Given the description of an element on the screen output the (x, y) to click on. 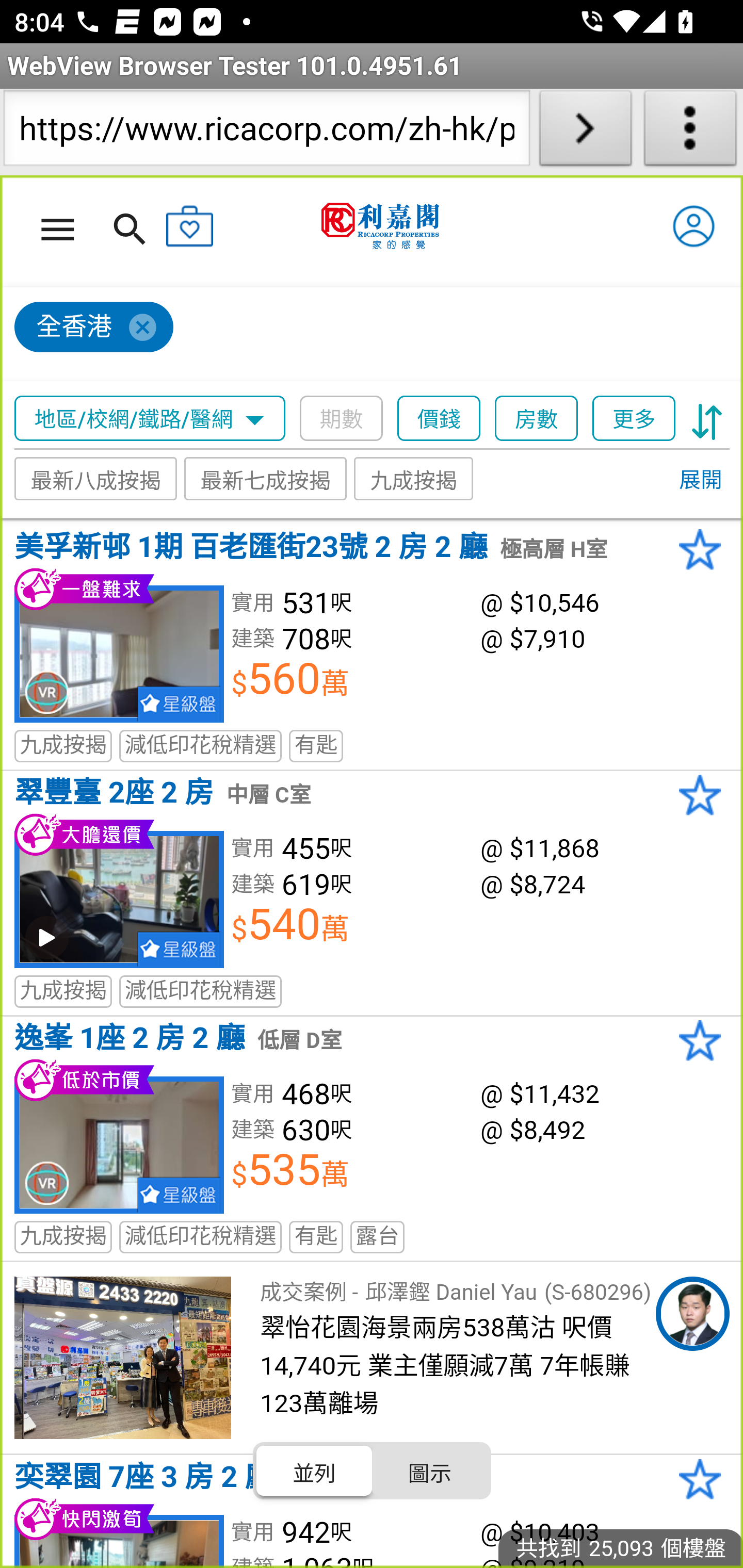
https://www.ricacorp.com/zh-hk/property/list/buy (266, 132)
Load URL (585, 132)
About WebView (690, 132)
全香港 (94, 327)
地區/校網/鐵路/醫網 (150, 418)
期數 (341, 418)
價錢 (439, 418)
房數 (536, 418)
更多 (634, 418)
sort (706, 418)
最新八成按揭 (96, 478)
最新七成按揭 (266, 478)
九成按揭 (413, 478)
展開 (699, 481)
Daniel Yau (692, 1313)
並列 (314, 1470)
圖示 (429, 1470)
